Given the description of an element on the screen output the (x, y) to click on. 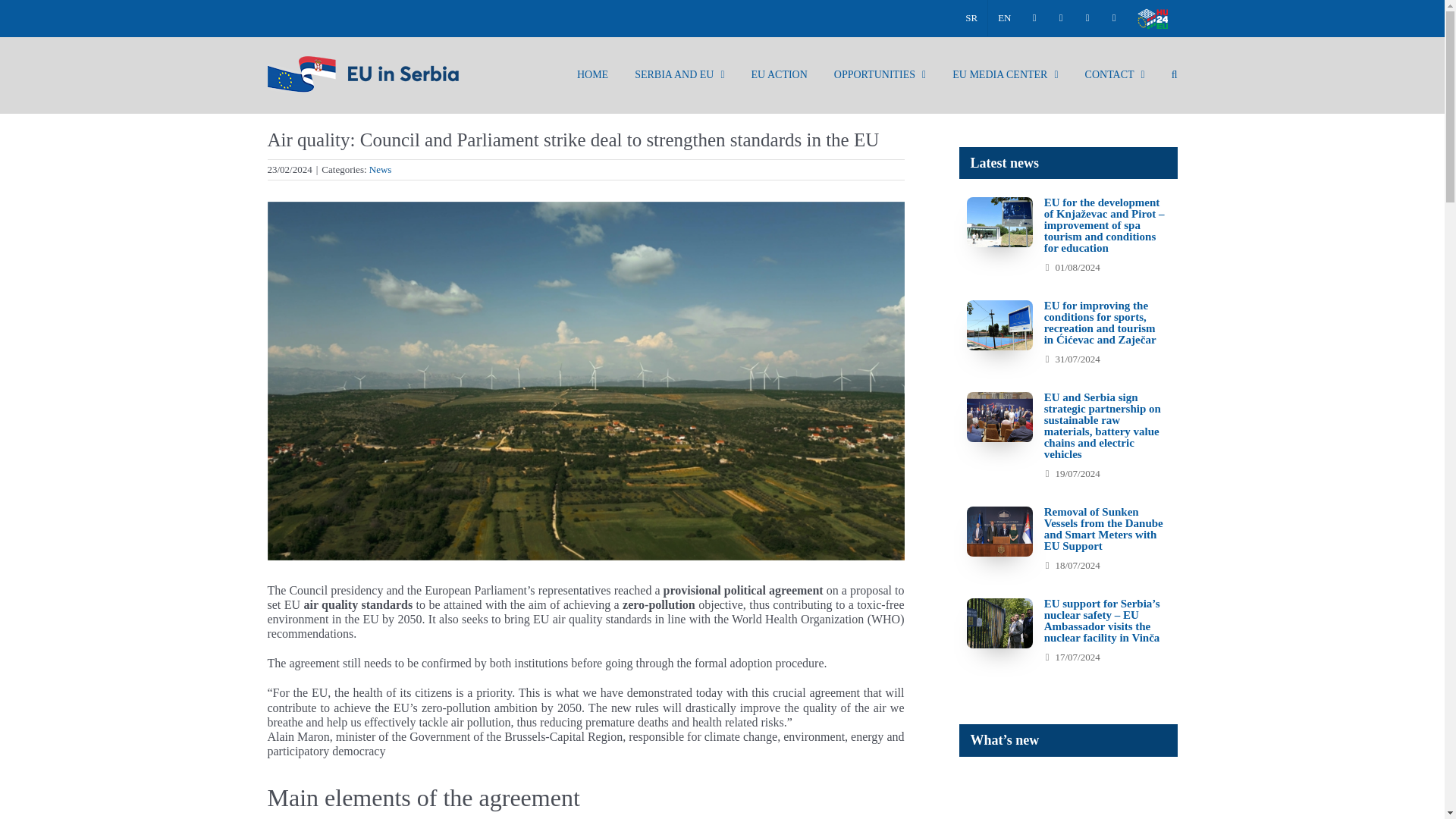
EN (1004, 18)
EN (1004, 18)
EU MEDIA CENTER (1005, 74)
SERBIA AND EU (678, 74)
Hungarian Presidency of the Council of the EU (1151, 18)
OPPORTUNITIES (880, 74)
YouTube video player (1170, 796)
